Given the description of an element on the screen output the (x, y) to click on. 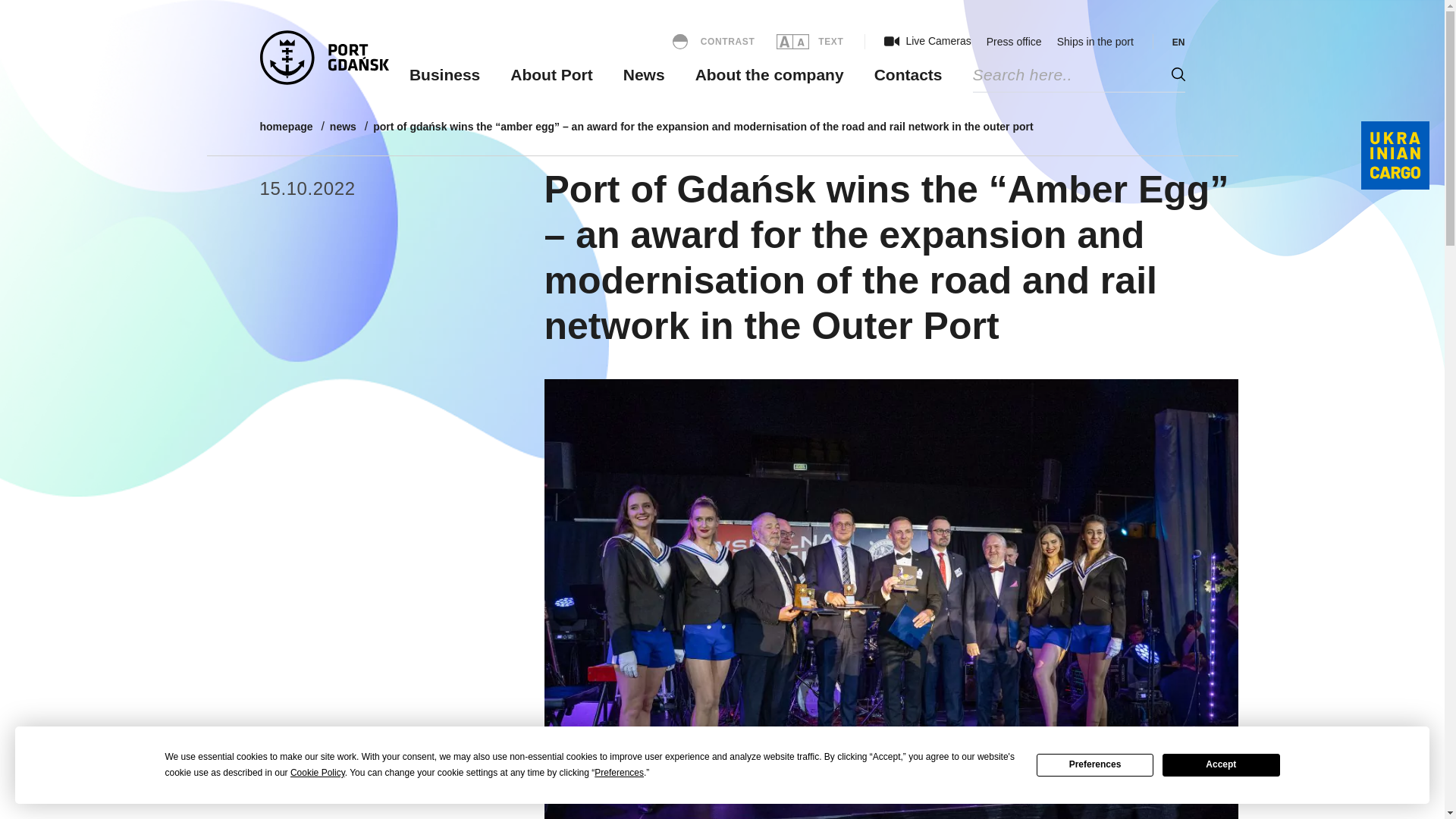
zmniejsz tekst (800, 41)
Accept (1220, 765)
Live Cameras (927, 40)
Business (444, 73)
Ships in the port (1095, 41)
Press office (1014, 41)
About Port (551, 73)
Preferences (1094, 765)
CONTRAST (713, 41)
